Given the description of an element on the screen output the (x, y) to click on. 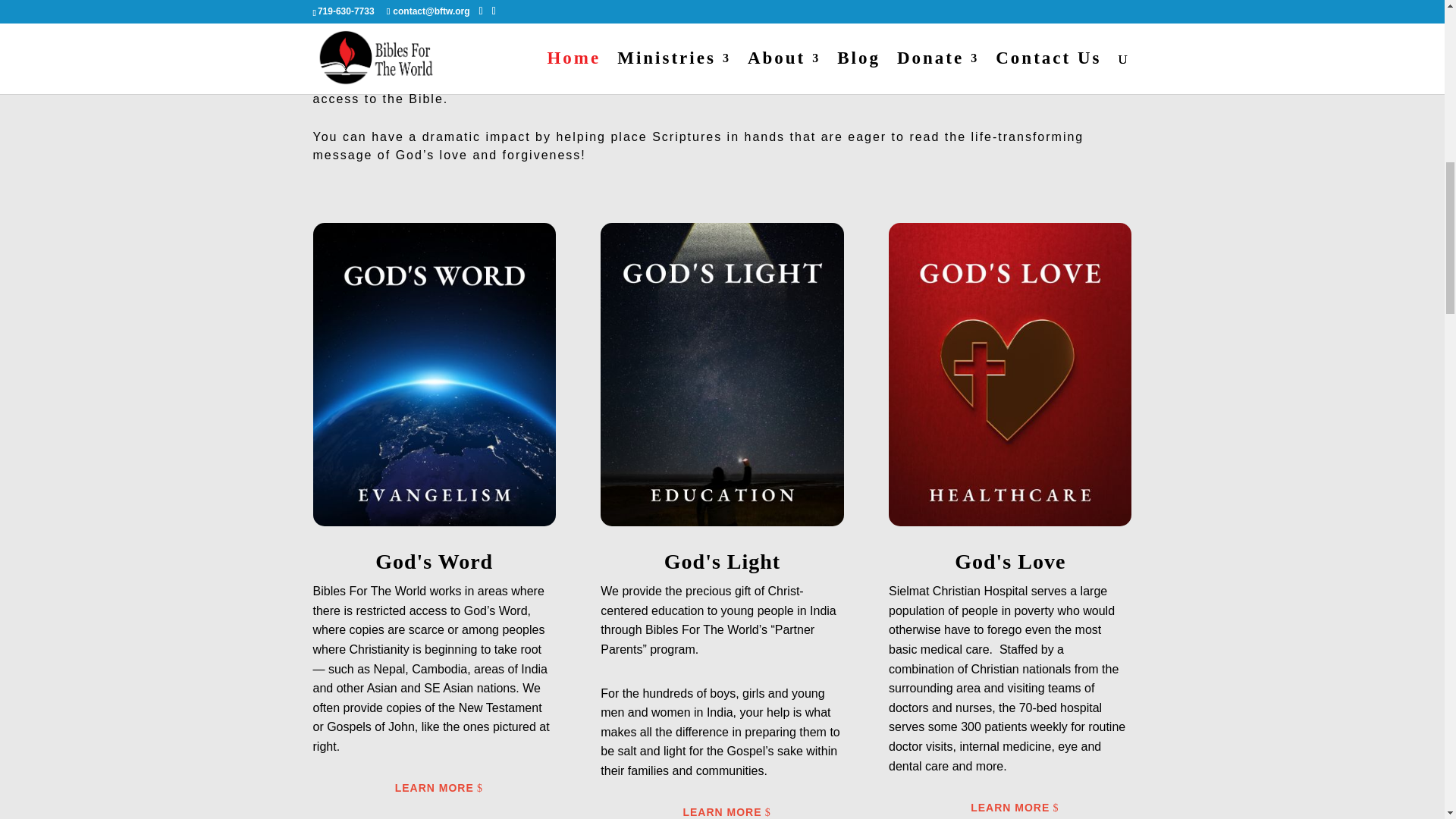
LEARN MORE (434, 788)
LEARN MORE (721, 811)
LEARN MORE (1010, 808)
